Given the description of an element on the screen output the (x, y) to click on. 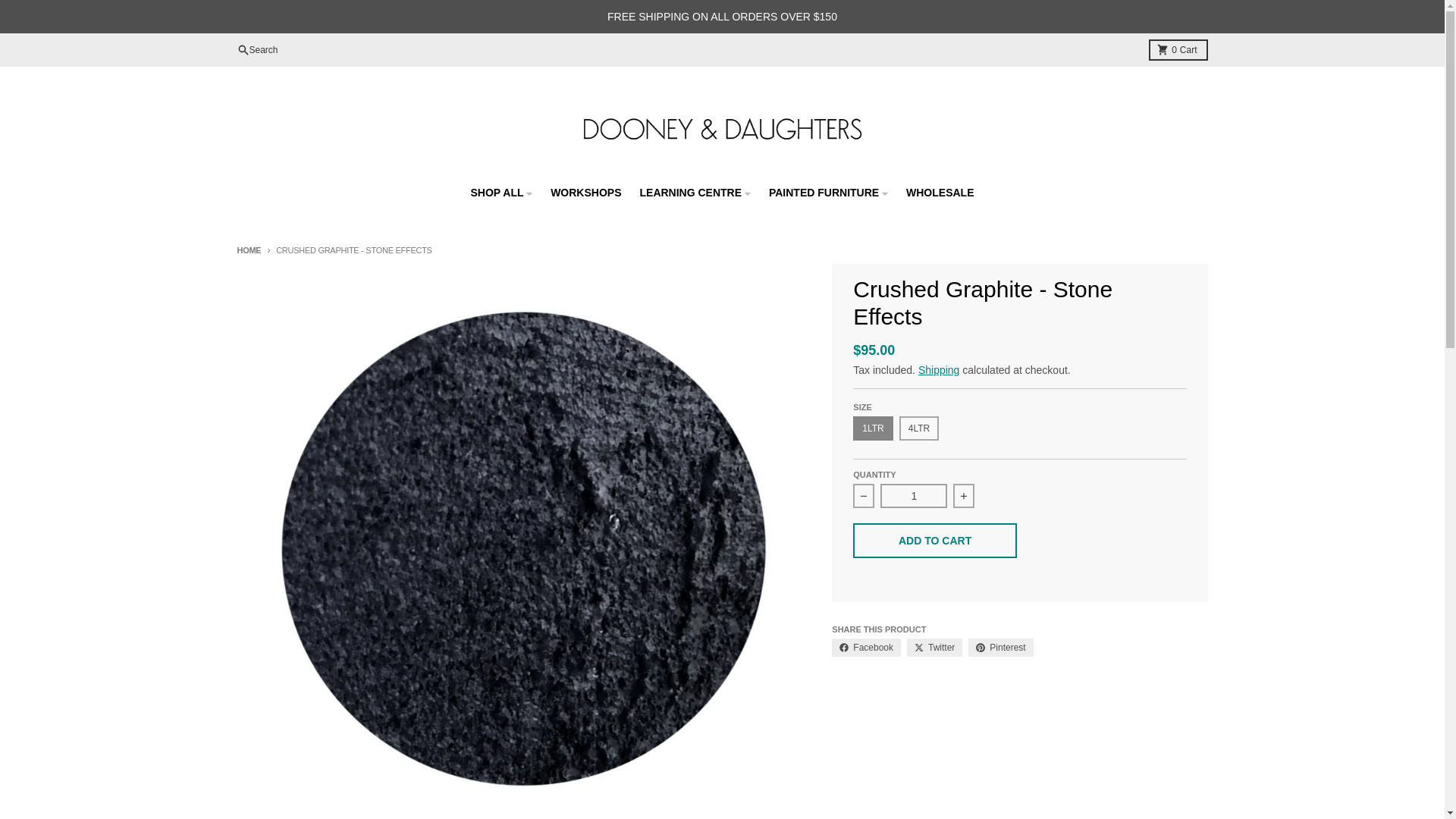
Back to the homepage (247, 249)
1 (913, 495)
Search (1177, 49)
